Given the description of an element on the screen output the (x, y) to click on. 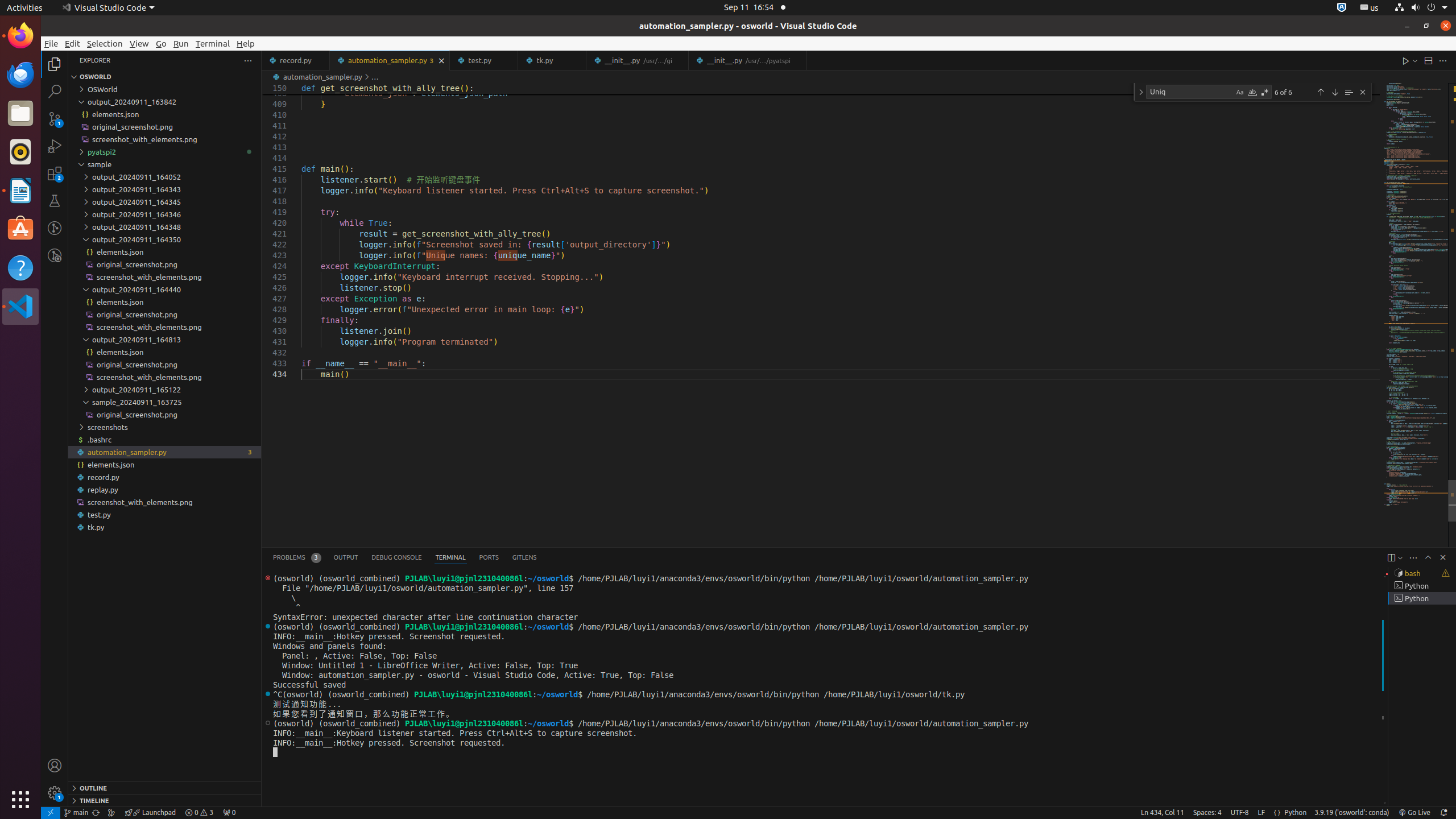
OSWorld (Git) - Synchronize Changes Element type: push-button (95, 812)
original_screenshot.png Element type: tree-item (164, 414)
Terminal 2 Python Element type: list-item (1422, 585)
UTF-8 Element type: push-button (1239, 812)
.bashrc Element type: tree-item (164, 439)
